Given the description of an element on the screen output the (x, y) to click on. 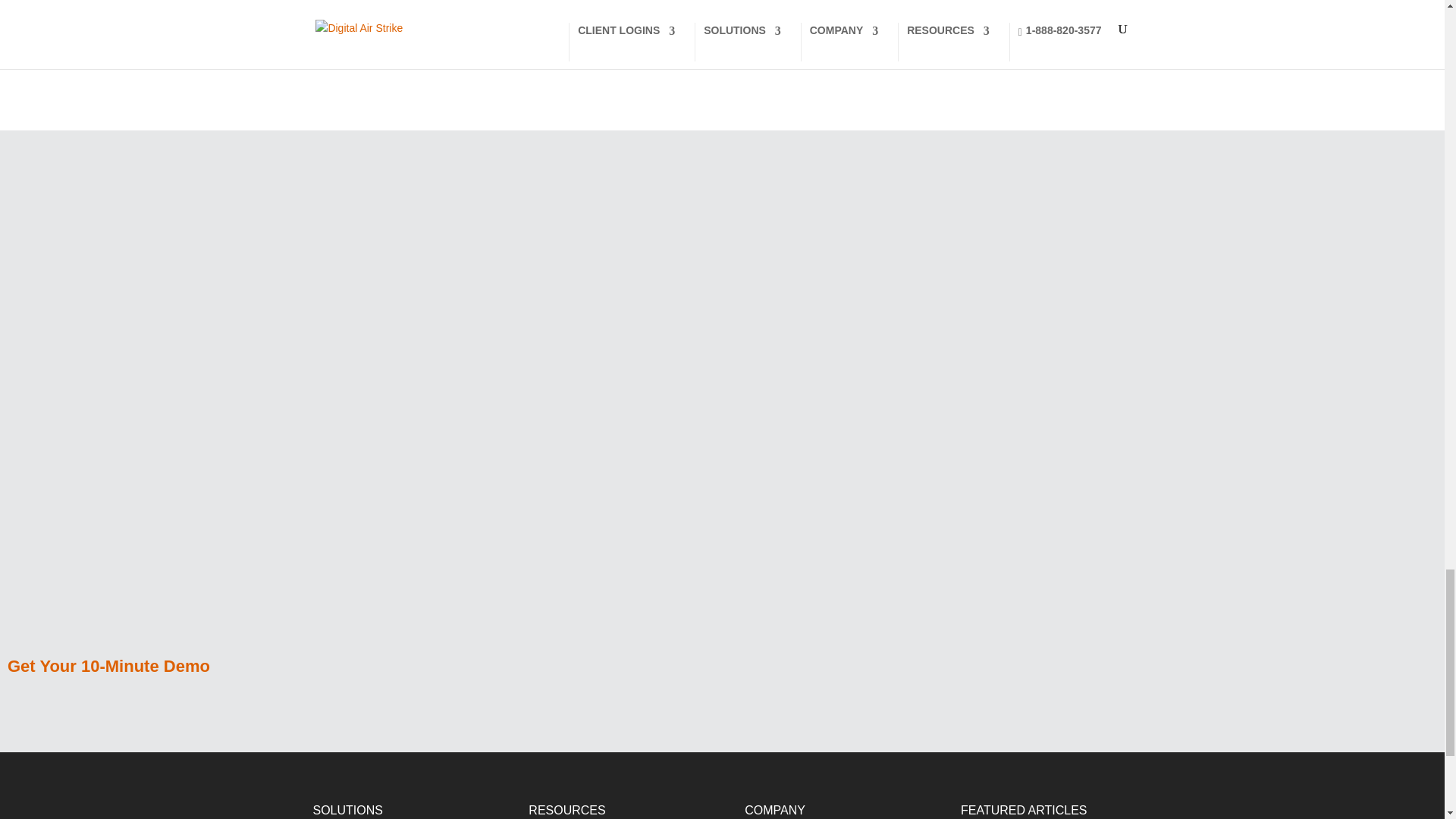
cta-2 (121, 405)
